Given the description of an element on the screen output the (x, y) to click on. 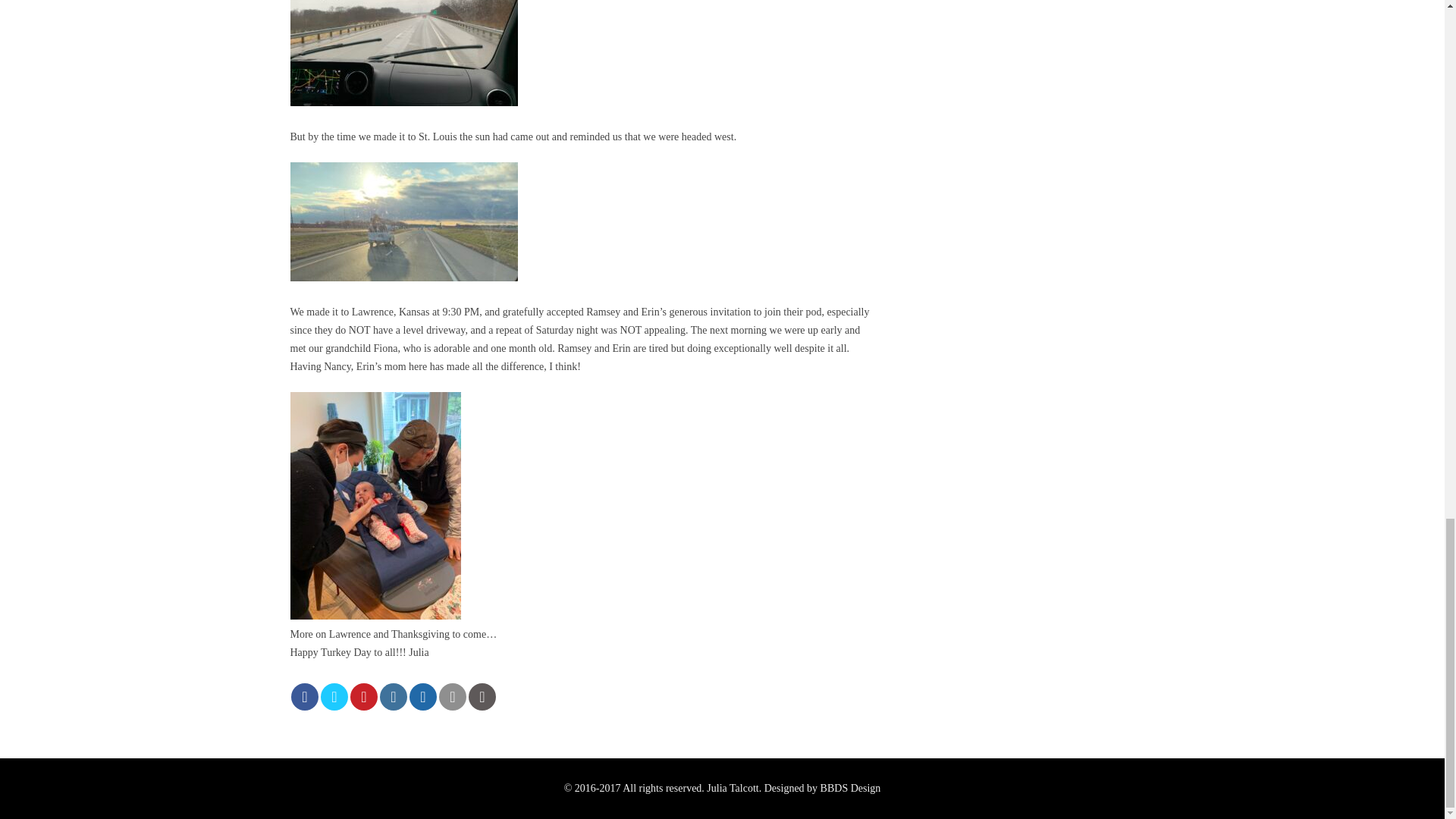
Share on Digg (422, 696)
Print (482, 696)
Share on LinkedIn (393, 696)
Share on Facebook (304, 696)
Share it on Email (452, 696)
Share on Pinterest (363, 696)
Share on Twitter (333, 696)
